Given the description of an element on the screen output the (x, y) to click on. 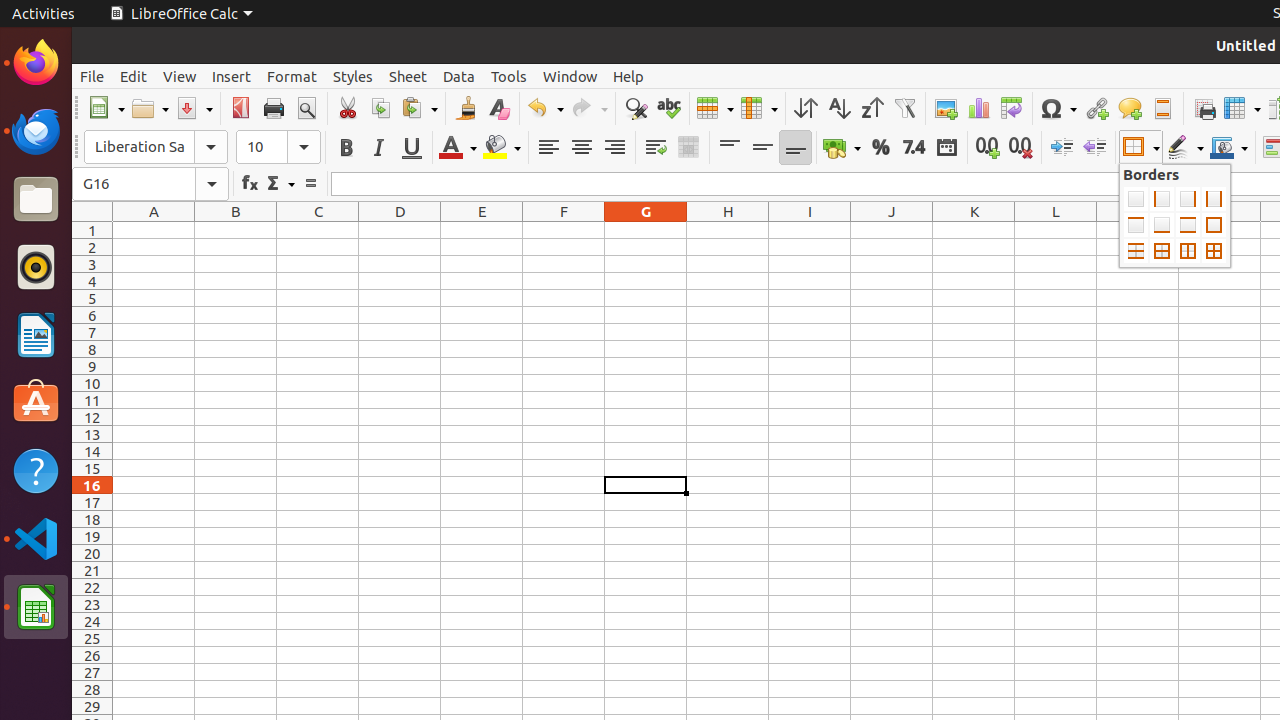
Paste Element type: push-button (419, 108)
Image Element type: push-button (945, 108)
Styles Element type: menu (353, 76)
Sort Ascending Element type: push-button (838, 108)
Redo Element type: push-button (589, 108)
